Given the description of an element on the screen output the (x, y) to click on. 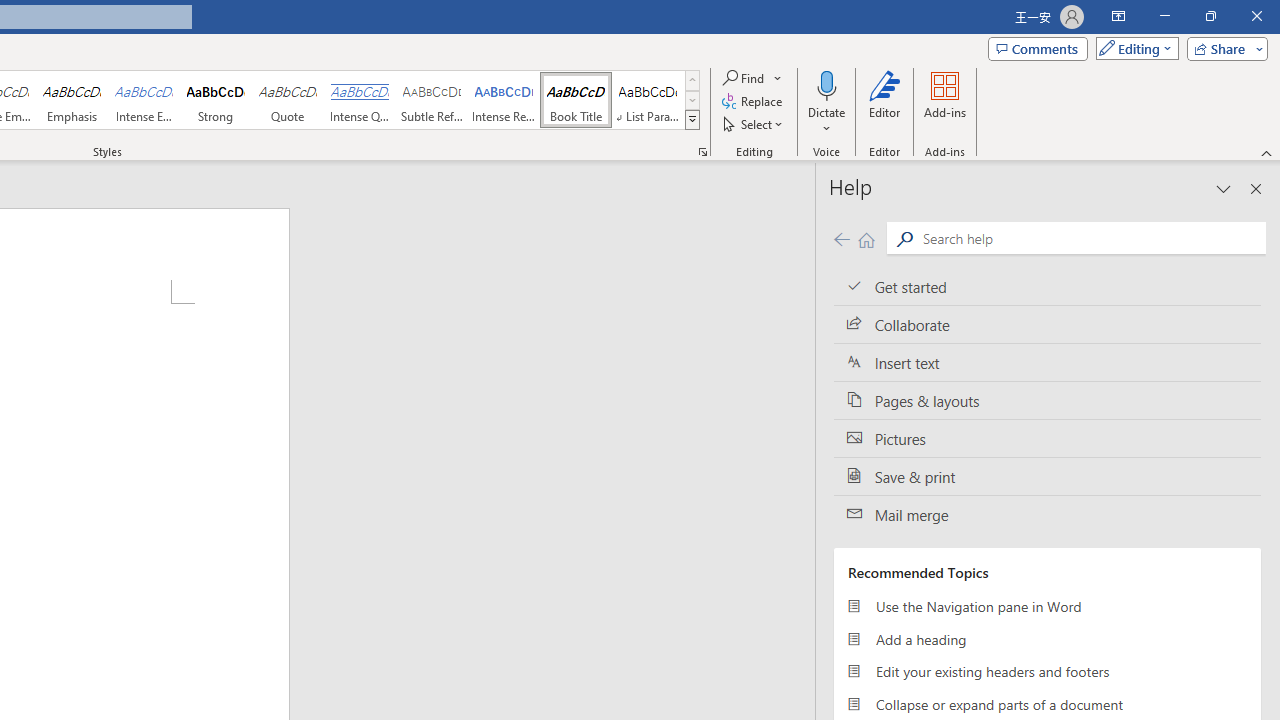
Add a heading (1047, 638)
